Given the description of an element on the screen output the (x, y) to click on. 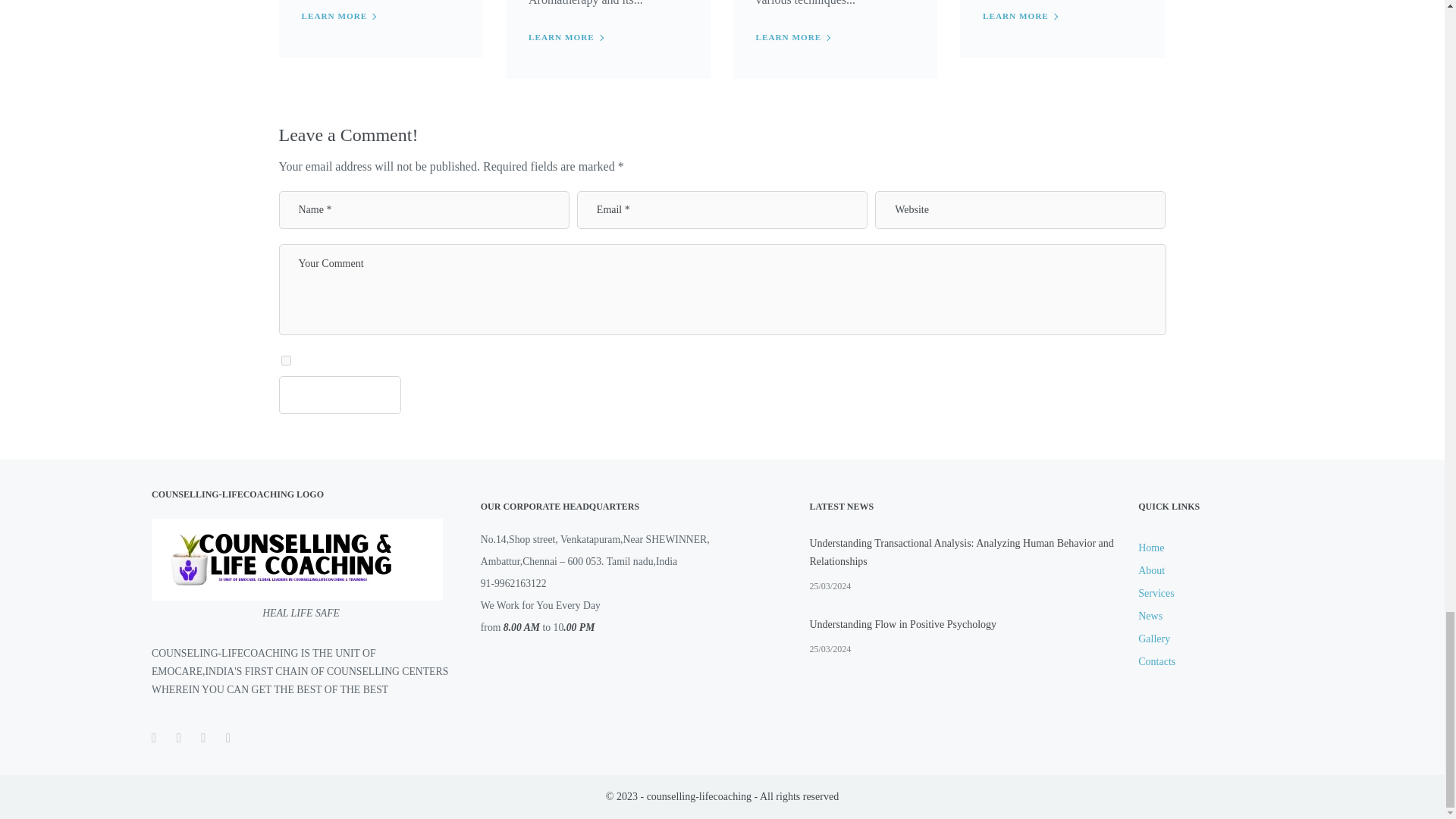
Post comment (340, 394)
yes (285, 360)
Website (1020, 209)
COUNSELLING-LIFECOACHING LOGO (296, 559)
